Given the description of an element on the screen output the (x, y) to click on. 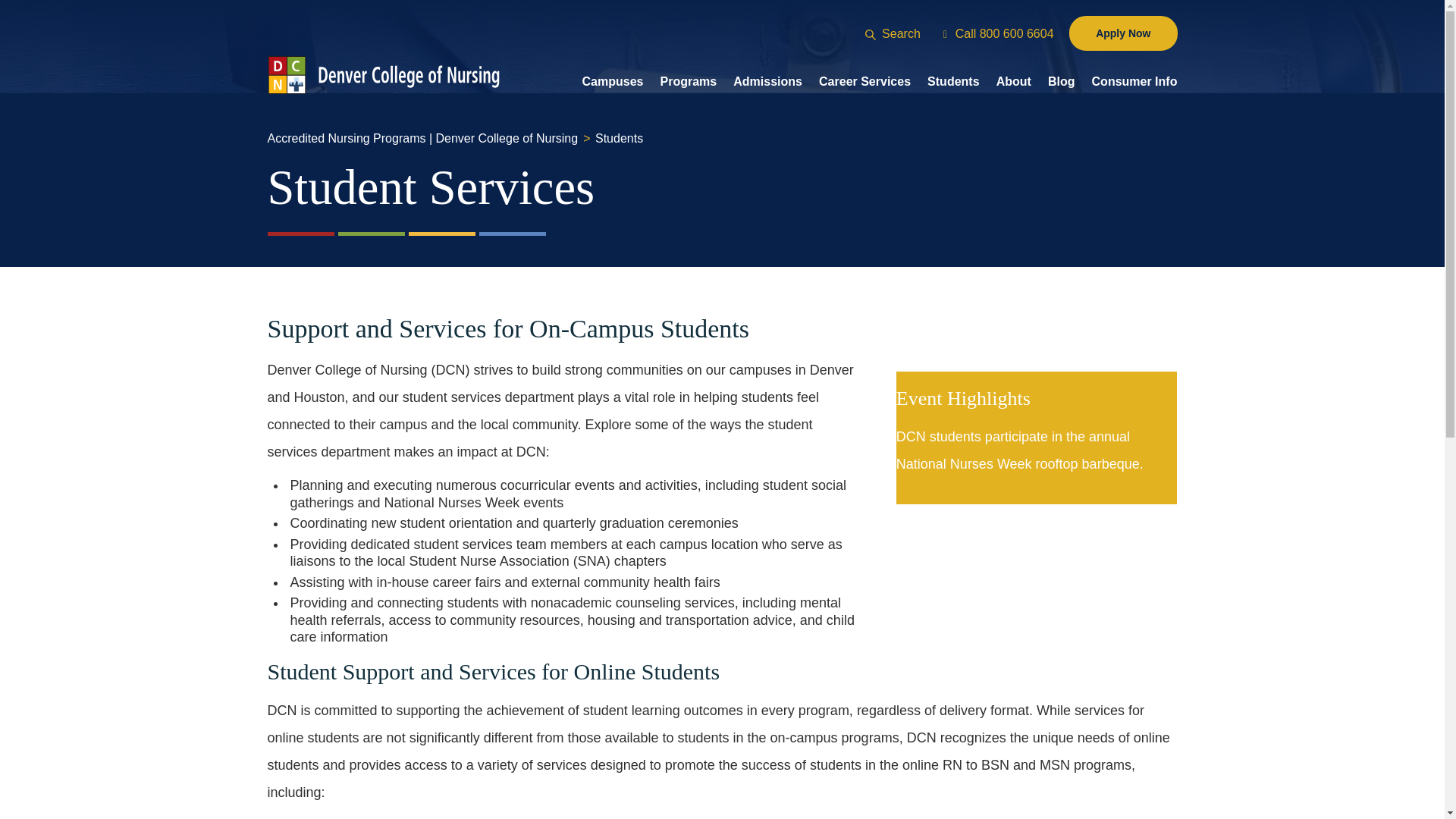
Students (952, 81)
Campuses (612, 81)
Call 800 600 6604 (997, 32)
Career Services (864, 81)
Apply Now (1122, 32)
Admissions (767, 81)
Search (870, 34)
About (1012, 81)
Programs (687, 81)
